Given the description of an element on the screen output the (x, y) to click on. 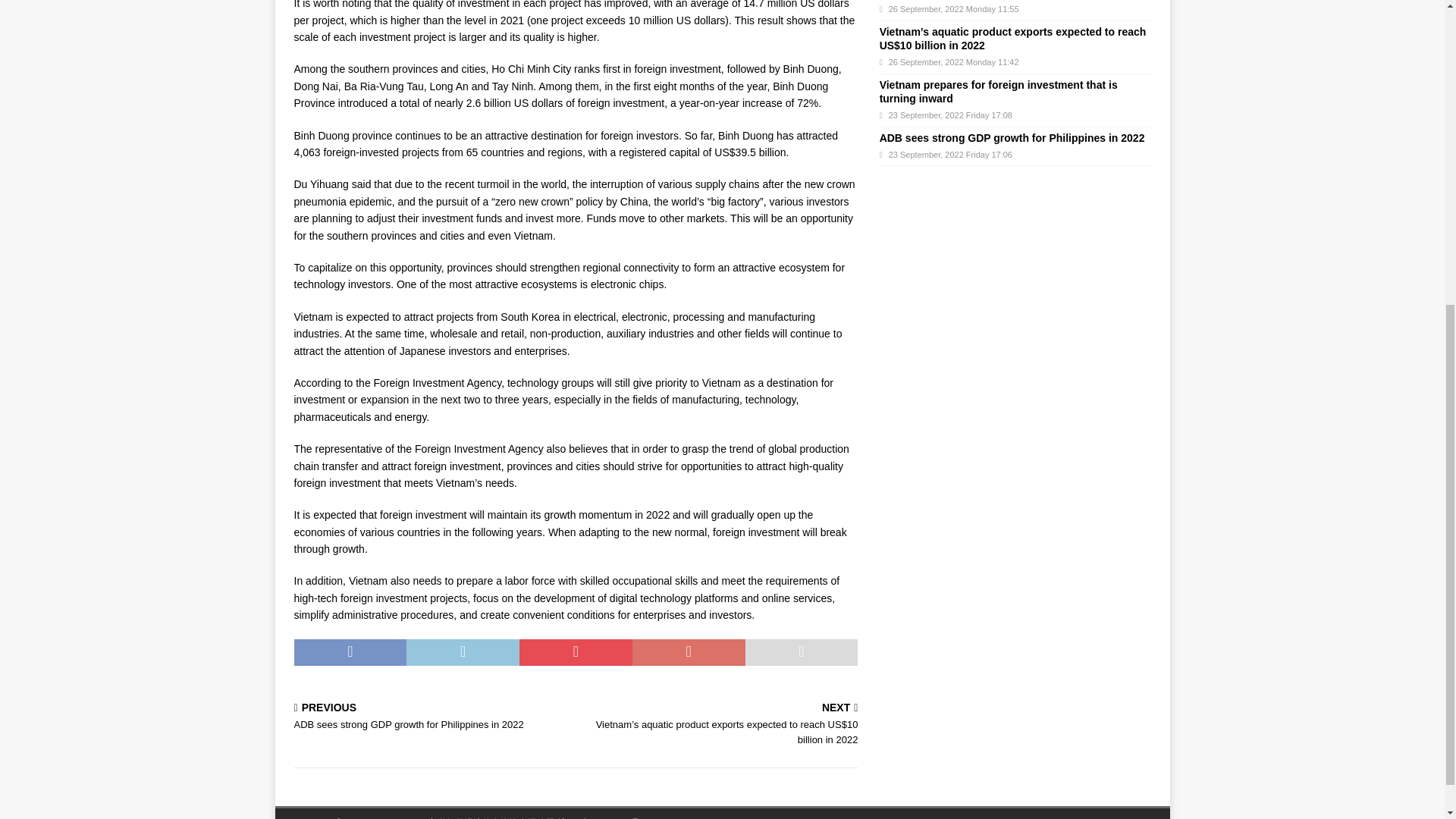
ADB sees strong GDP growth for Philippines in 2022 (1011, 137)
